Given the description of an element on the screen output the (x, y) to click on. 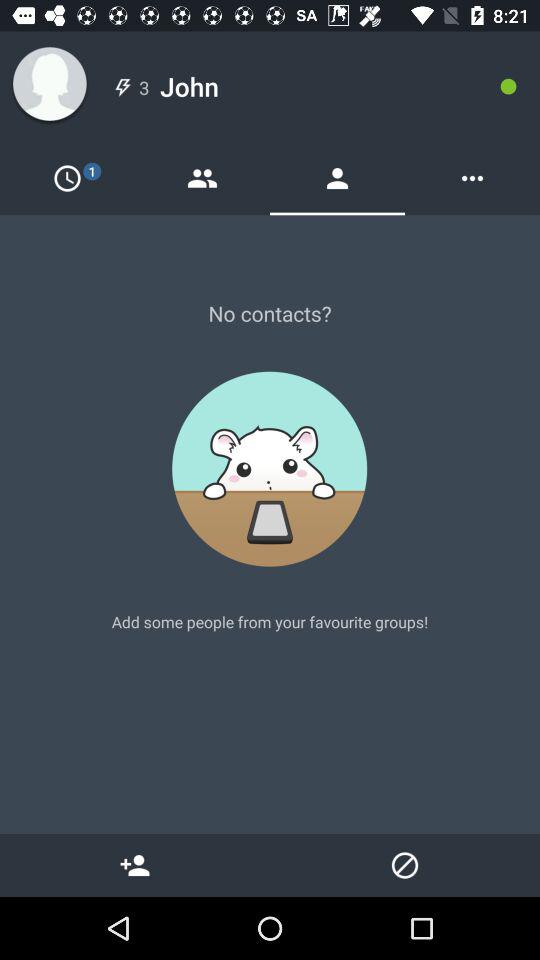
select the green icon (508, 86)
select the image at the center of the page (269, 468)
click on the watch icon at the top left corner of the page (67, 178)
click on the girl icon at the left top corner of the page (49, 86)
